Given the description of an element on the screen output the (x, y) to click on. 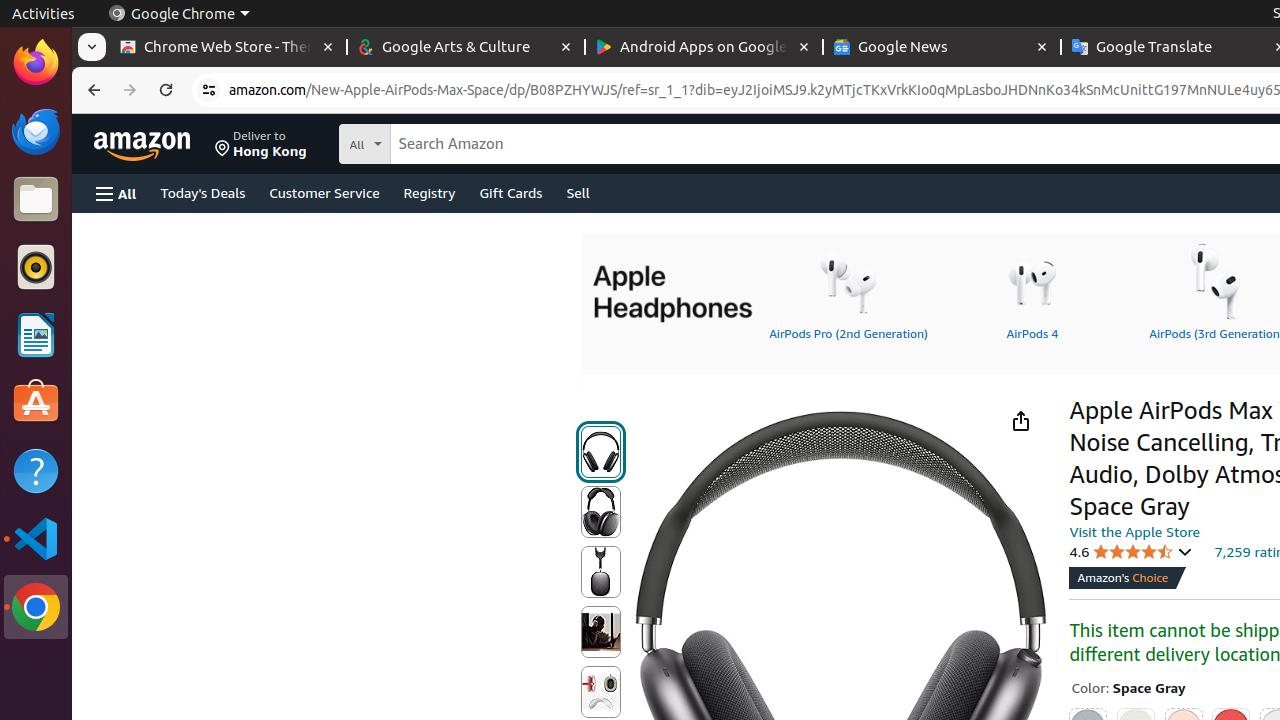
4.6 4.6 out of 5 stars Element type: push-button (1131, 551)
Help Element type: push-button (36, 470)
